Given the description of an element on the screen output the (x, y) to click on. 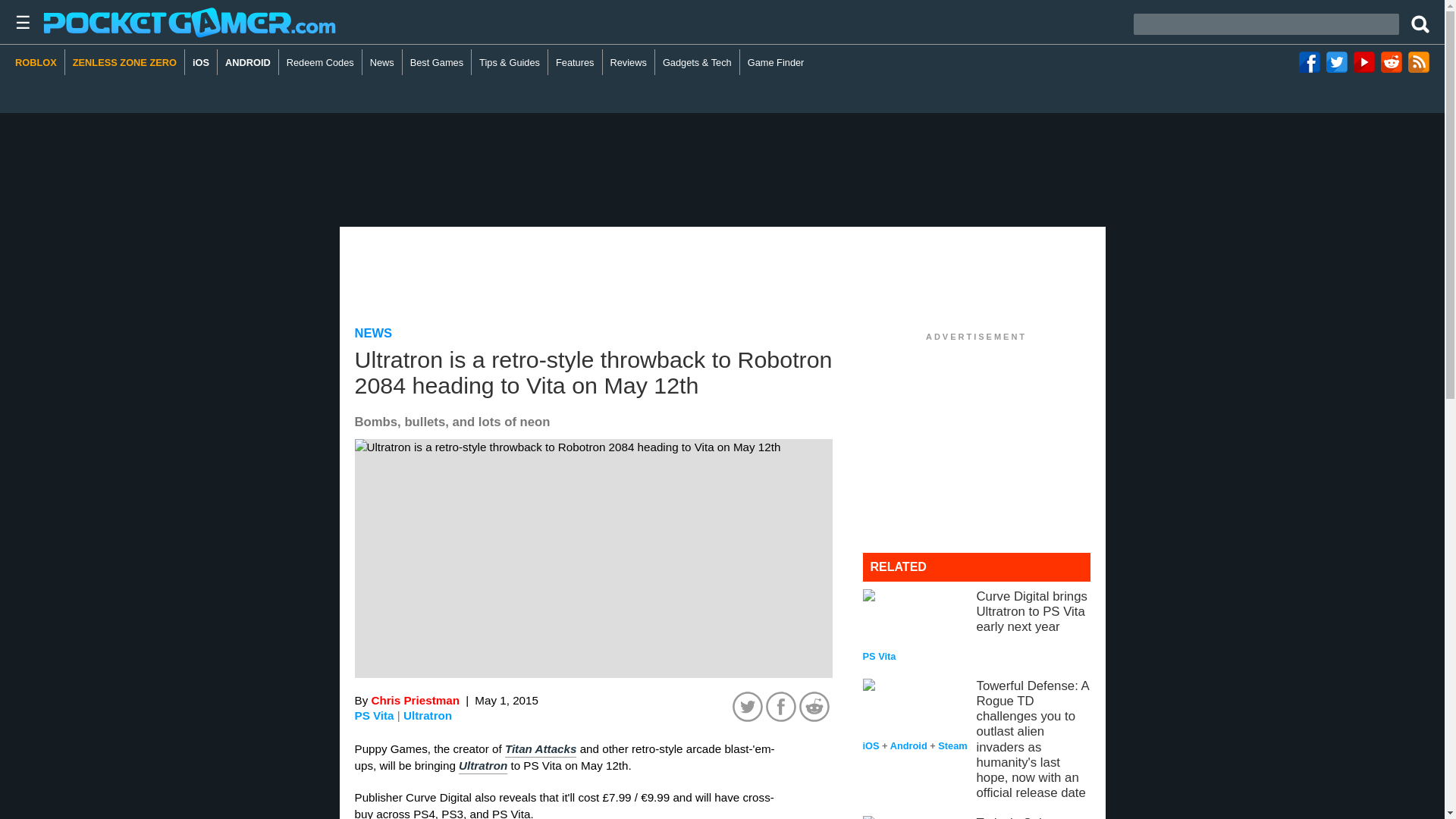
Chris Priestman (414, 699)
Browse Pocket Gamer (18, 22)
Best Games (437, 62)
Titan Attacks (540, 749)
Ultratron (427, 715)
Features (575, 62)
iOS (200, 62)
PS Vita (374, 715)
Ultratron (482, 766)
NEWS (374, 332)
Redeem Codes (320, 62)
Reviews (628, 62)
ANDROID (247, 62)
Game Finder (775, 62)
ROBLOX (39, 62)
